Given the description of an element on the screen output the (x, y) to click on. 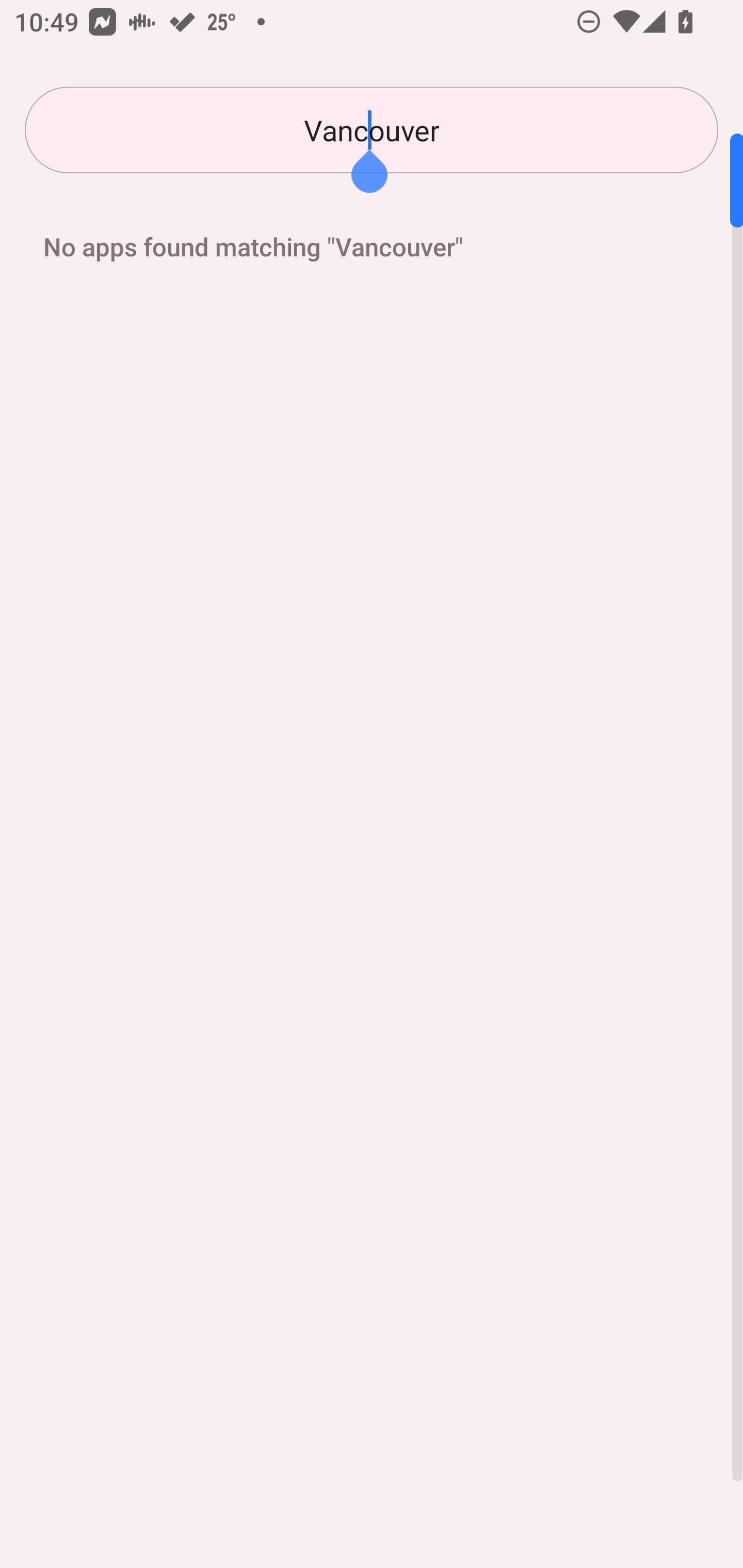
Vancouver (371, 130)
